Given the description of an element on the screen output the (x, y) to click on. 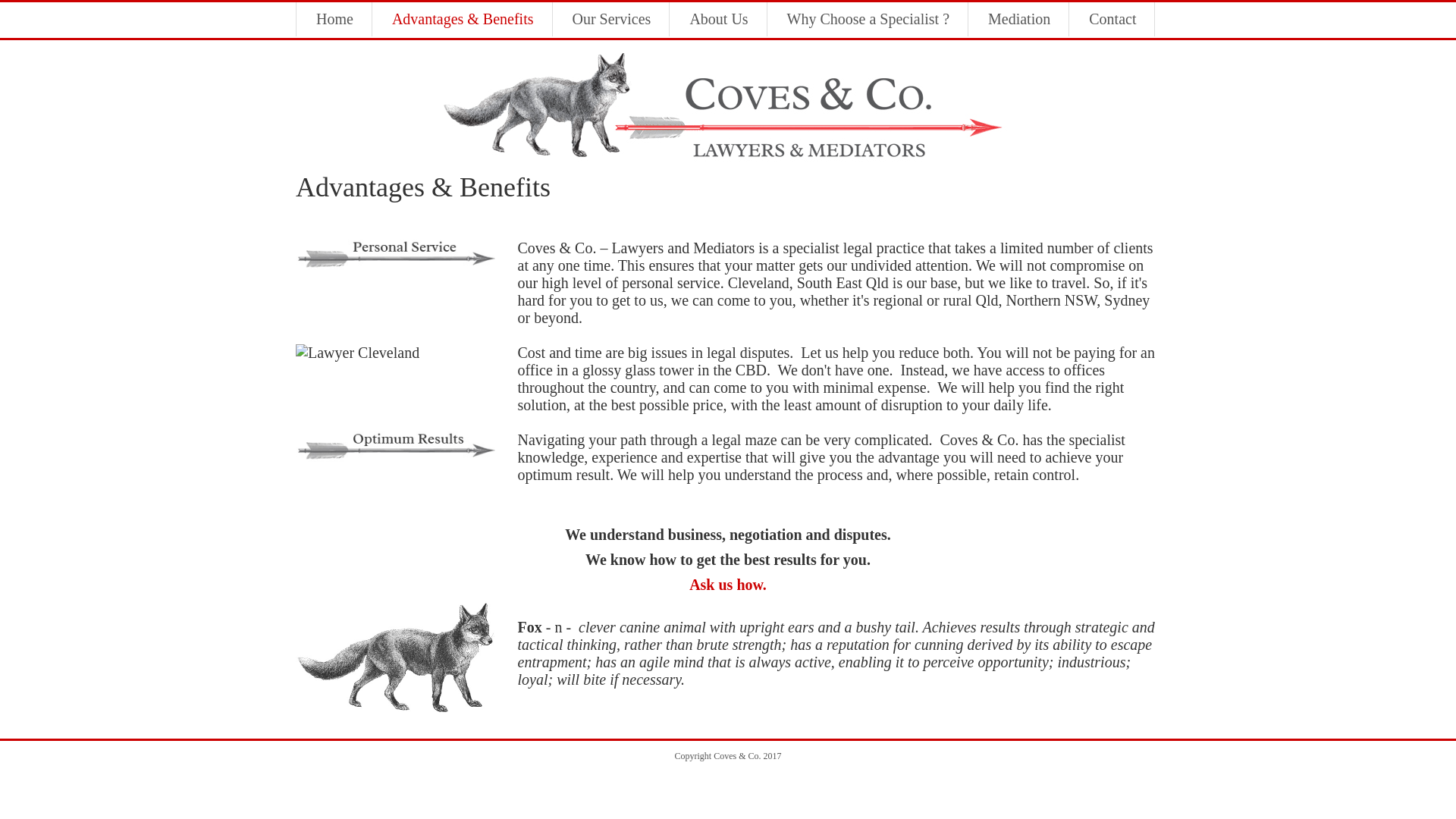
Our Services Element type: text (611, 19)
Advantages & Benefits Element type: text (462, 19)
About Us Element type: text (718, 19)
Home Element type: text (334, 19)
Ask us how. Element type: text (727, 584)
Contact Element type: text (1111, 19)
Mediation Element type: text (1019, 19)
Why Choose a Specialist ? Element type: text (868, 19)
